Given the description of an element on the screen output the (x, y) to click on. 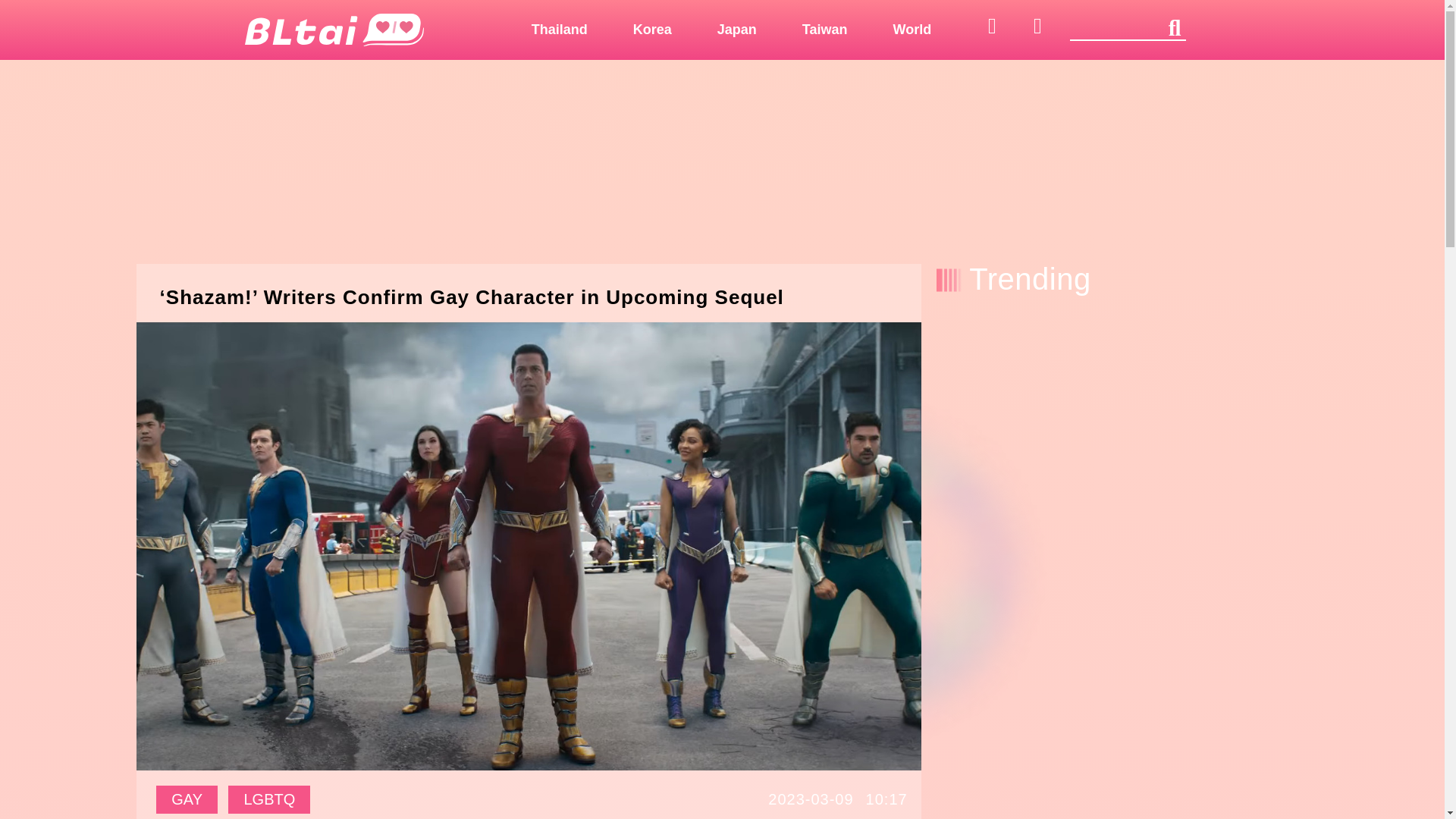
World (912, 29)
Korea (652, 29)
Thailand (559, 29)
Taiwan (824, 29)
2023-03-09 (810, 799)
GAY (185, 799)
Japan (736, 29)
LGBTQ (269, 799)
